Given the description of an element on the screen output the (x, y) to click on. 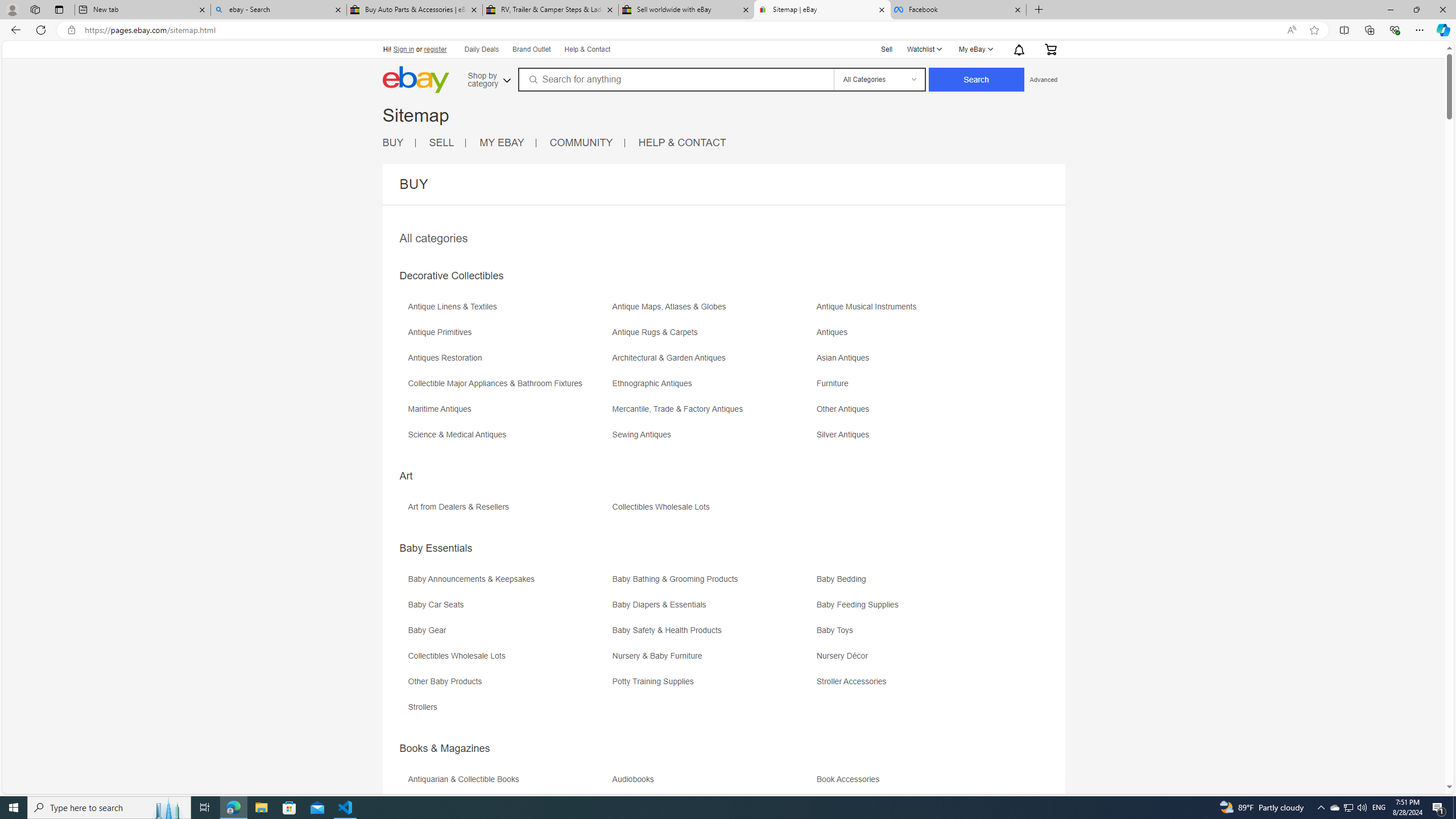
Strollers (424, 707)
Maritime Antiques (508, 412)
Baby Gear (508, 634)
Sewing Antiques (644, 434)
Baby Safety & Health Products (712, 634)
HELP & CONTACT (681, 142)
Baby Announcements & Keepsakes (473, 579)
Expand Cart (1049, 49)
Ethnographic Antiques (712, 387)
Silver Antiques (845, 434)
SELL (441, 142)
Baby Toys (917, 634)
Book Accessories (850, 779)
Decorative Collectibles (450, 275)
